Given the description of an element on the screen output the (x, y) to click on. 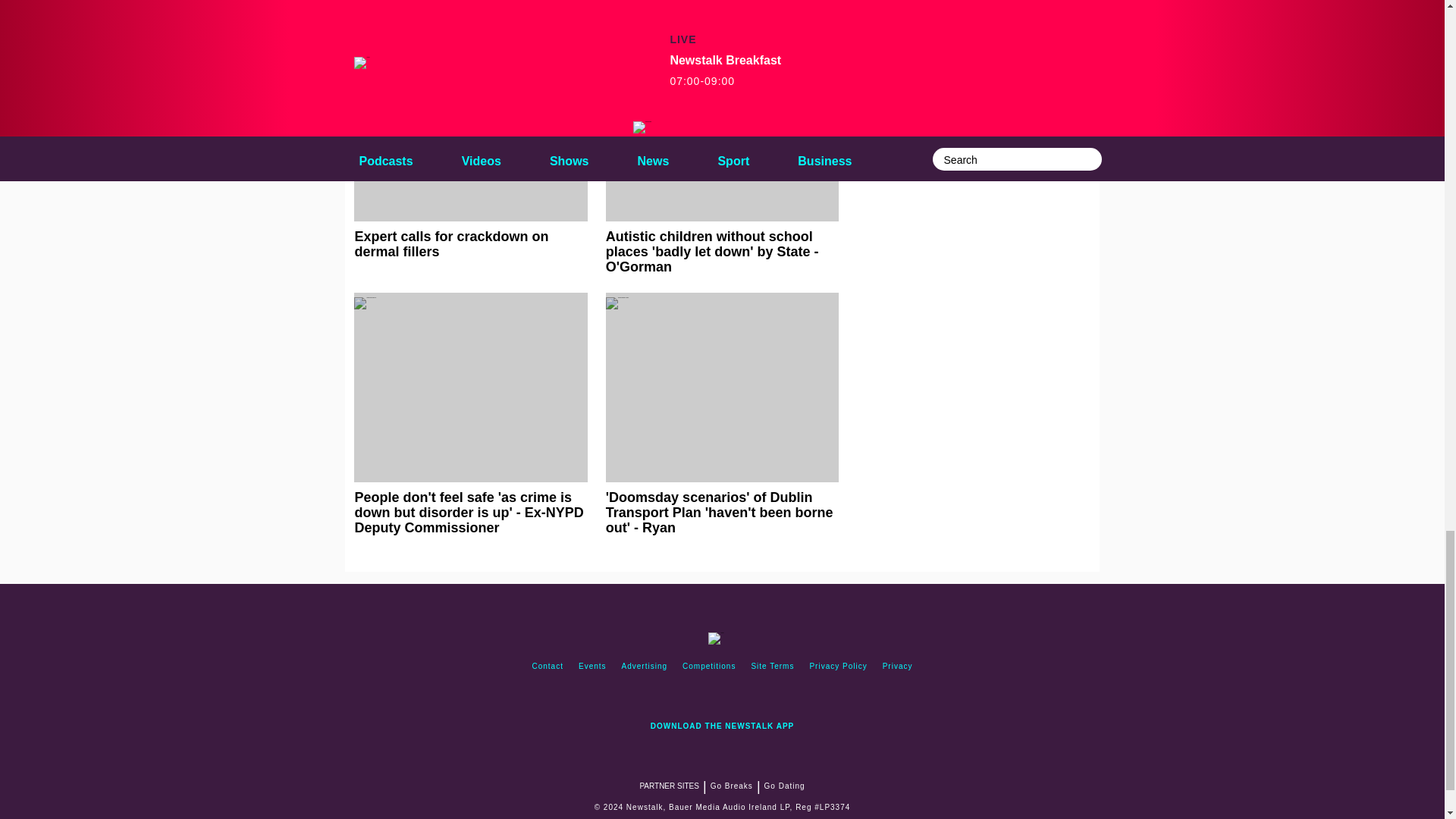
contact (547, 666)
competitions (708, 666)
advertising (644, 666)
Privacy Policy (838, 666)
site terms (772, 666)
Privacy (897, 666)
Expert calls for crackdown on dermal fillers (469, 145)
